Given the description of an element on the screen output the (x, y) to click on. 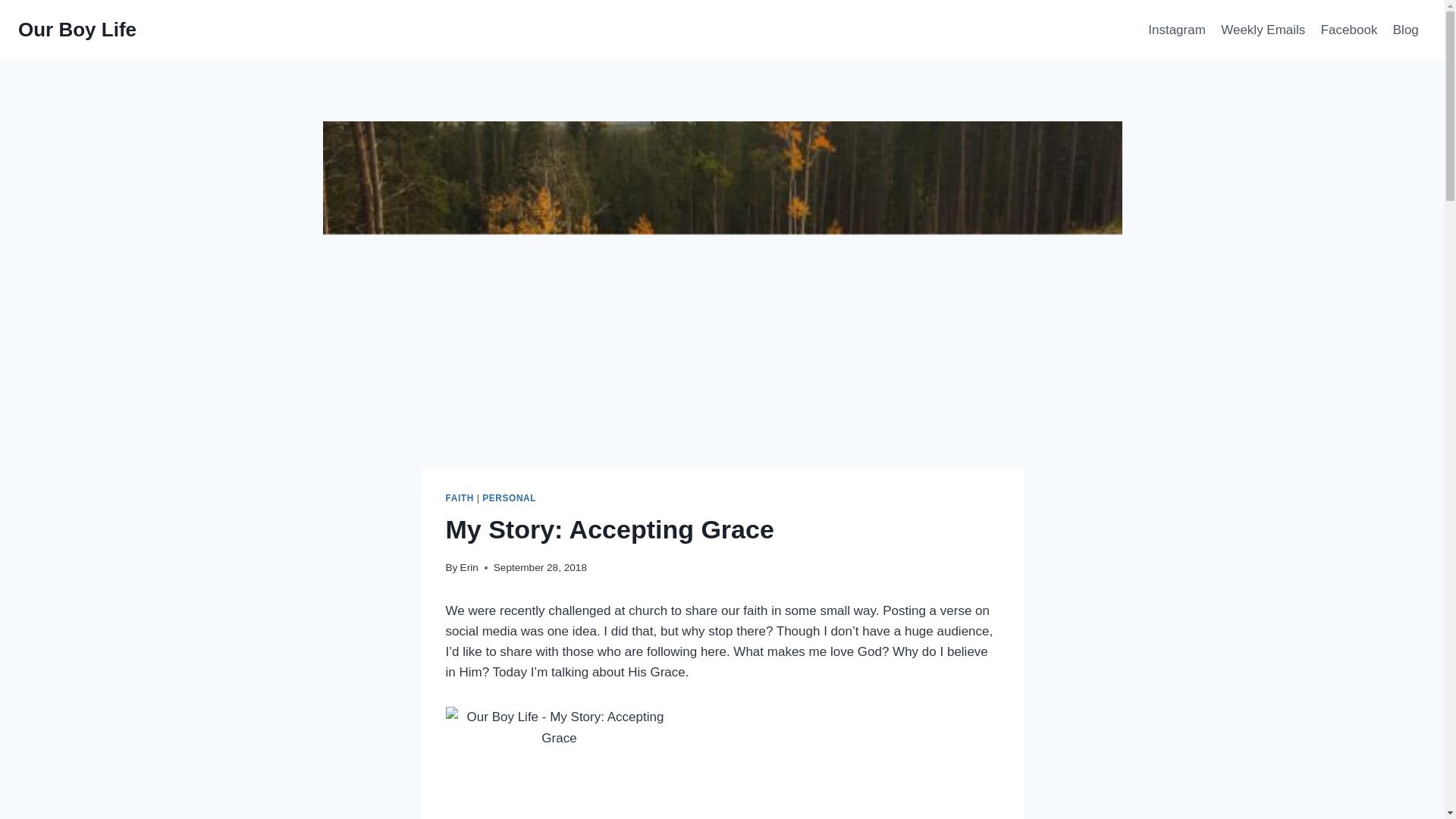
Our Boy Life (76, 29)
Weekly Emails (1262, 30)
PERSONAL (508, 498)
FAITH (459, 498)
Erin (469, 567)
Instagram (1176, 30)
Blog (1406, 30)
Facebook (1349, 30)
